Given the description of an element on the screen output the (x, y) to click on. 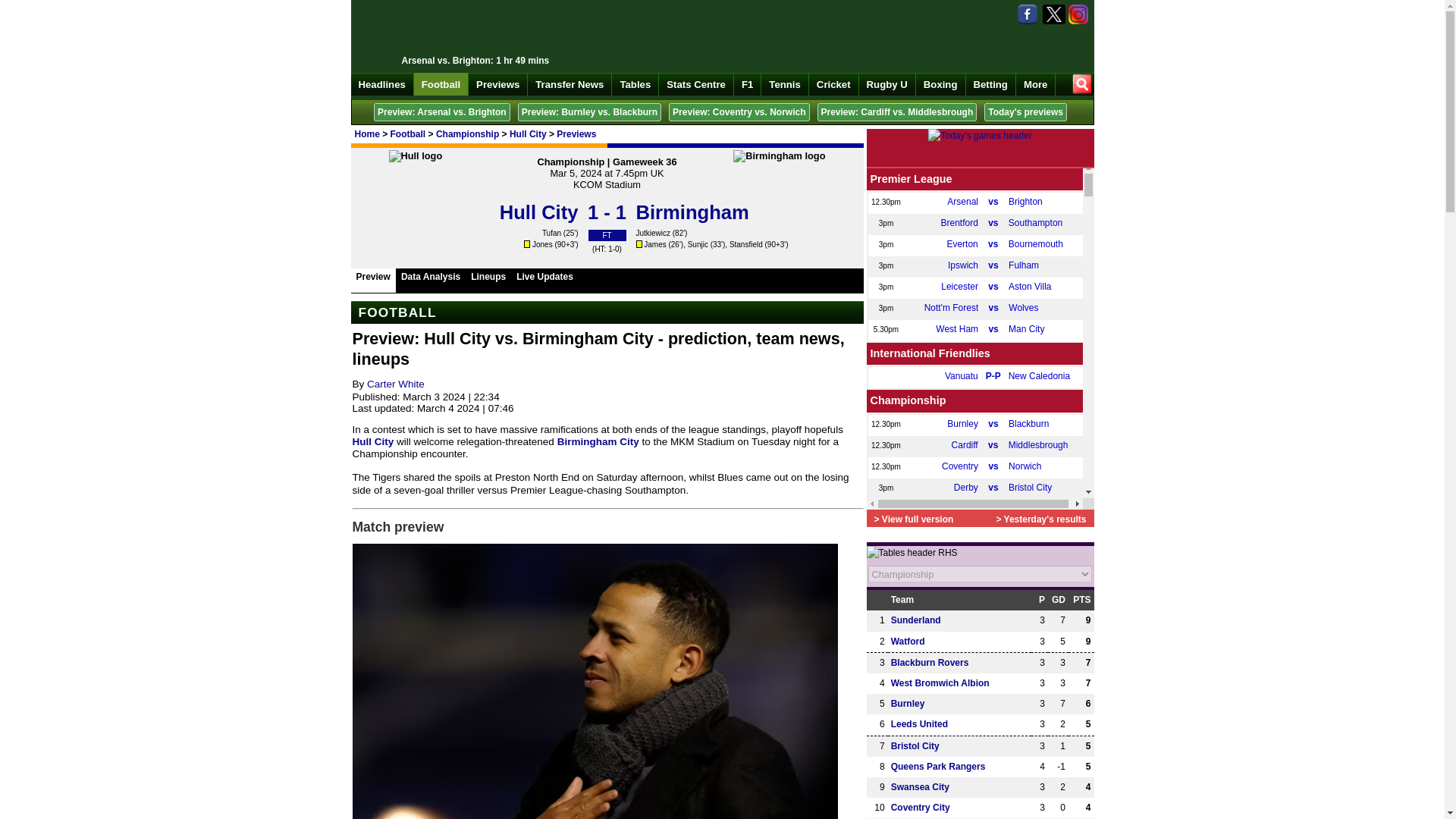
Preview: Coventry vs. Norwich (738, 112)
Betting (991, 83)
Transfer News (569, 83)
Rugby U (887, 83)
Championship (467, 133)
Cricket (834, 83)
Football (408, 133)
Headlines (381, 83)
Tables (635, 83)
Hull City (528, 133)
